Given the description of an element on the screen output the (x, y) to click on. 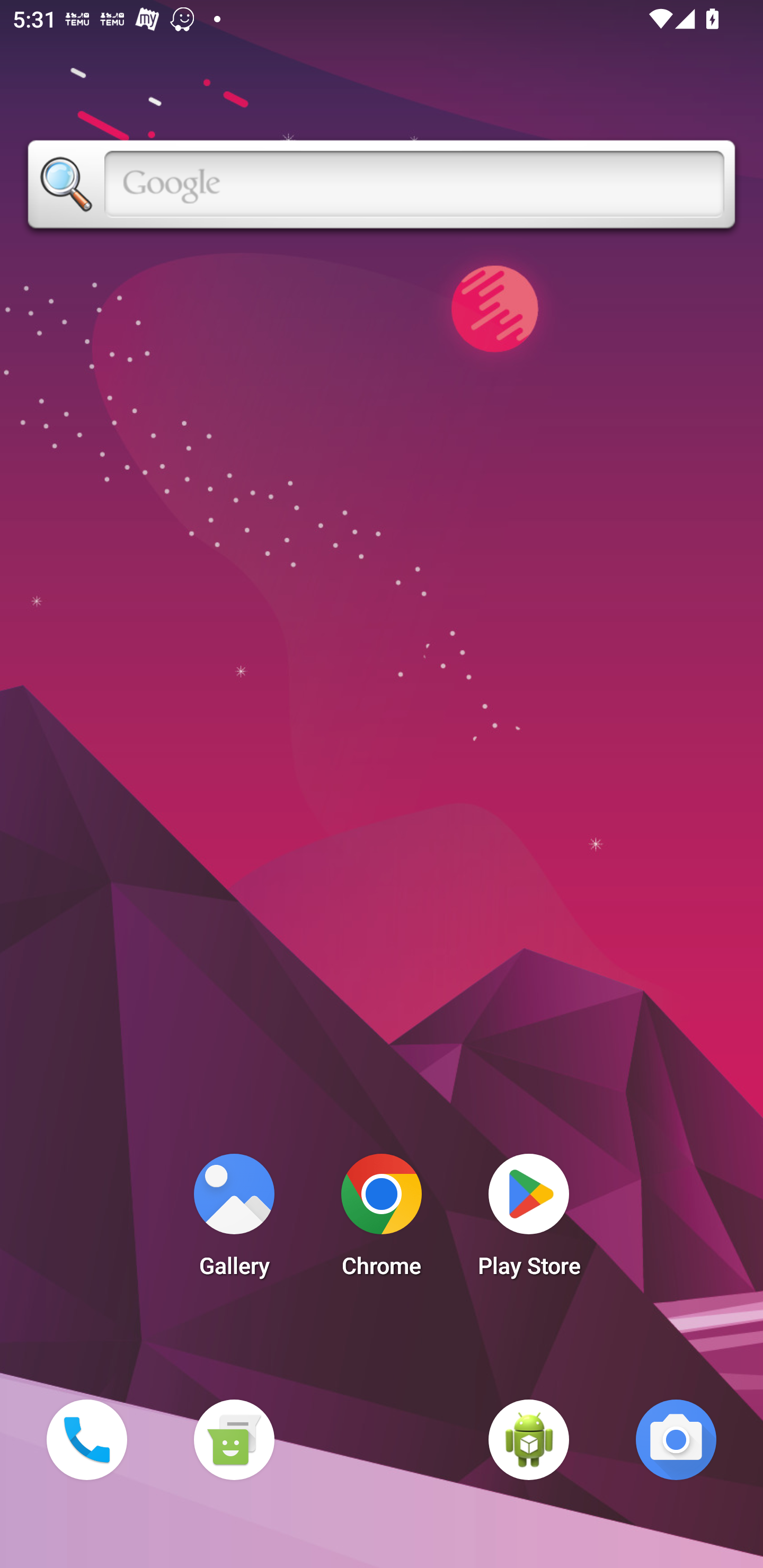
Gallery (233, 1220)
Chrome (381, 1220)
Play Store (528, 1220)
Phone (86, 1439)
Messaging (233, 1439)
WebView Browser Tester (528, 1439)
Camera (676, 1439)
